Given the description of an element on the screen output the (x, y) to click on. 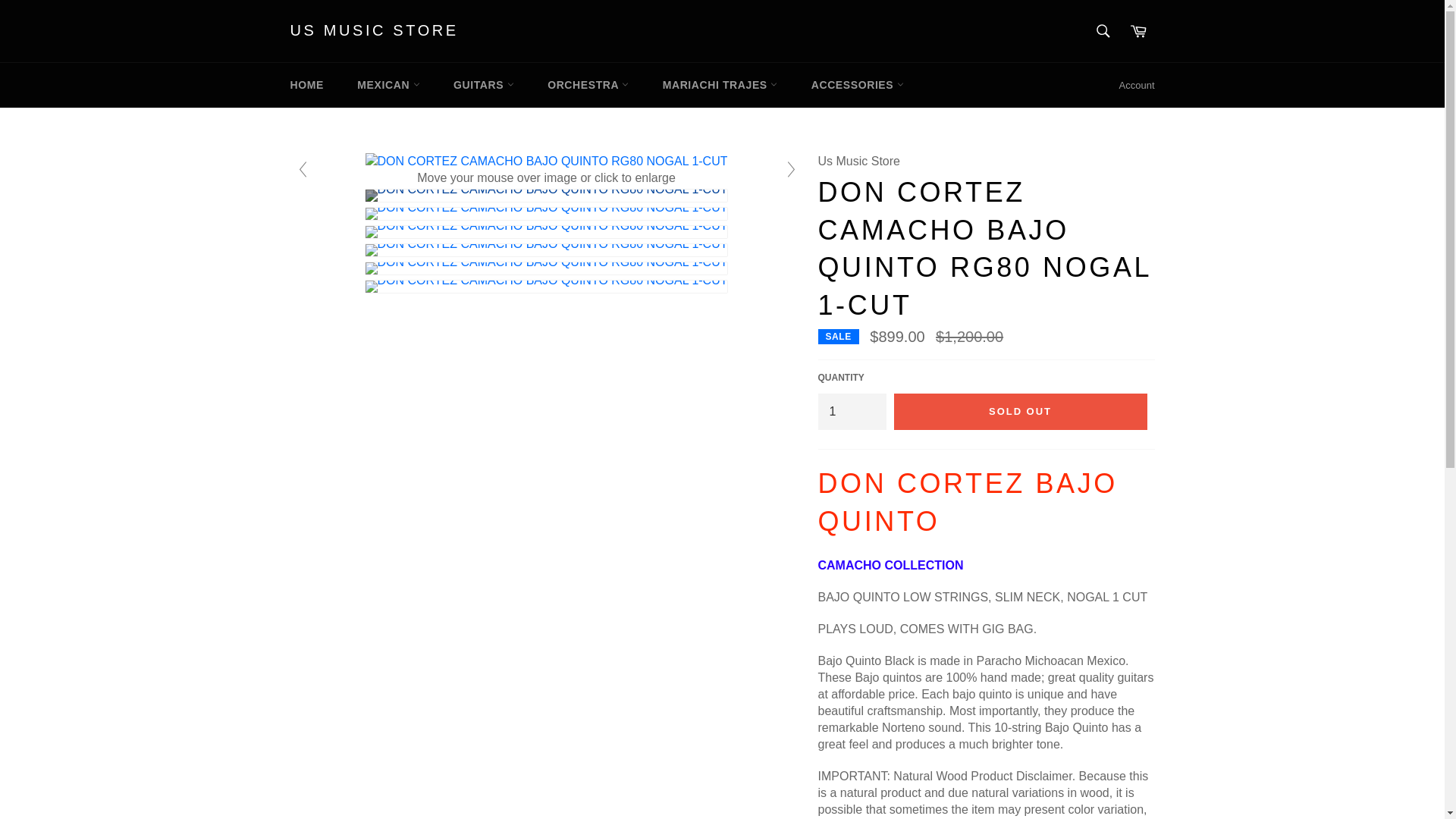
DON CORTEZ CAMACHO BAJO QUINTO RG80 NOGAL 1-CUT (546, 232)
DON CORTEZ CAMACHO BAJO QUINTO RG80 NOGAL 1-CUT (546, 195)
DON CORTEZ CAMACHO BAJO QUINTO RG80 NOGAL 1-CUT (546, 214)
DON CORTEZ CAMACHO BAJO QUINTO RG80 NOGAL 1-CUT (546, 286)
DON CORTEZ CAMACHO BAJO QUINTO RG80 NOGAL 1-CUT (546, 160)
DON CORTEZ CAMACHO BAJO QUINTO RG80 NOGAL 1-CUT (546, 268)
1 (850, 411)
DON CORTEZ CAMACHO BAJO QUINTO RG80 NOGAL 1-CUT (546, 250)
